Given the description of an element on the screen output the (x, y) to click on. 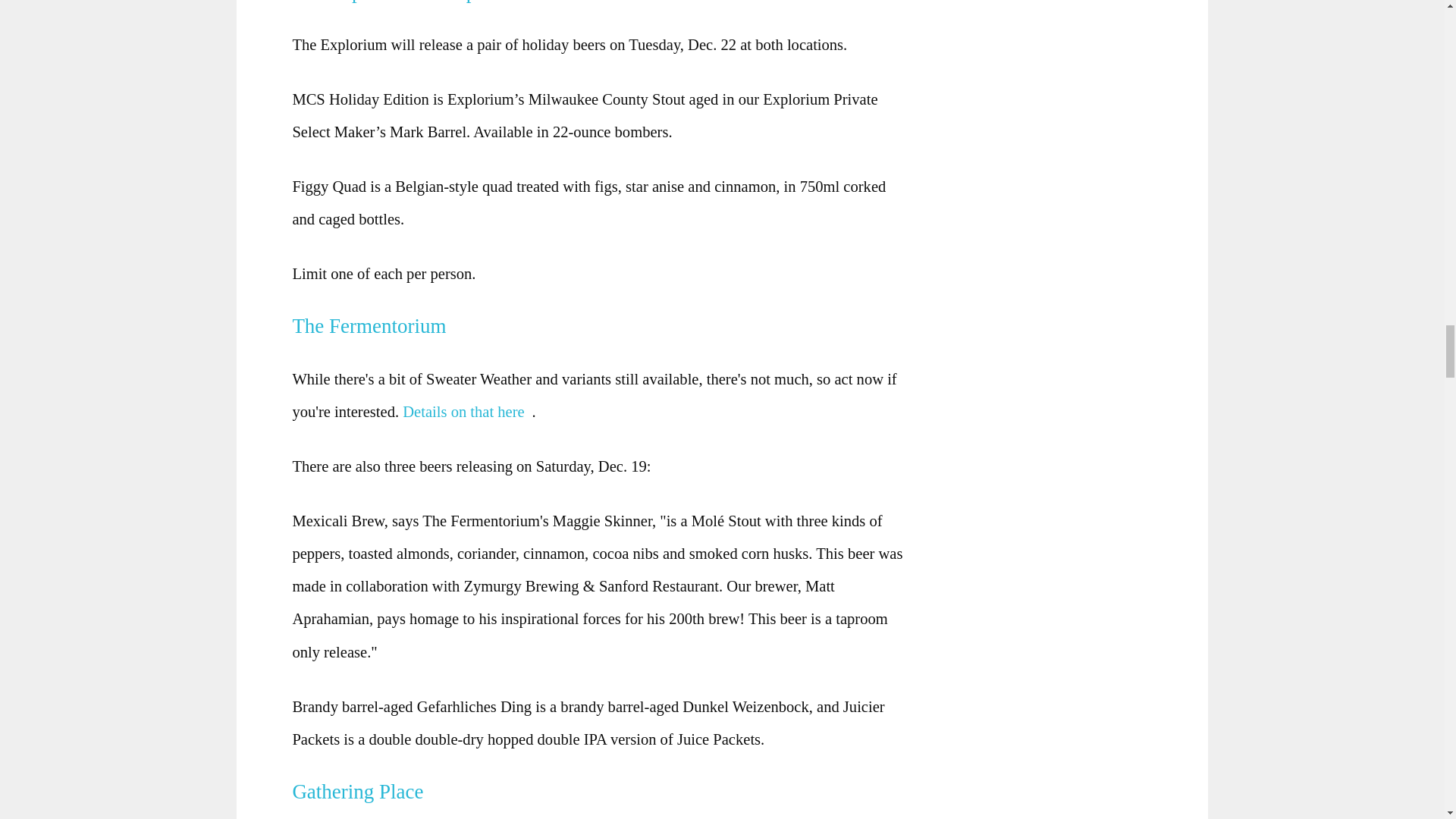
The Fermentorium (373, 325)
Gathering Place (362, 791)
The Explorium Brewpubs (402, 1)
Details on that here (467, 411)
